Given the description of an element on the screen output the (x, y) to click on. 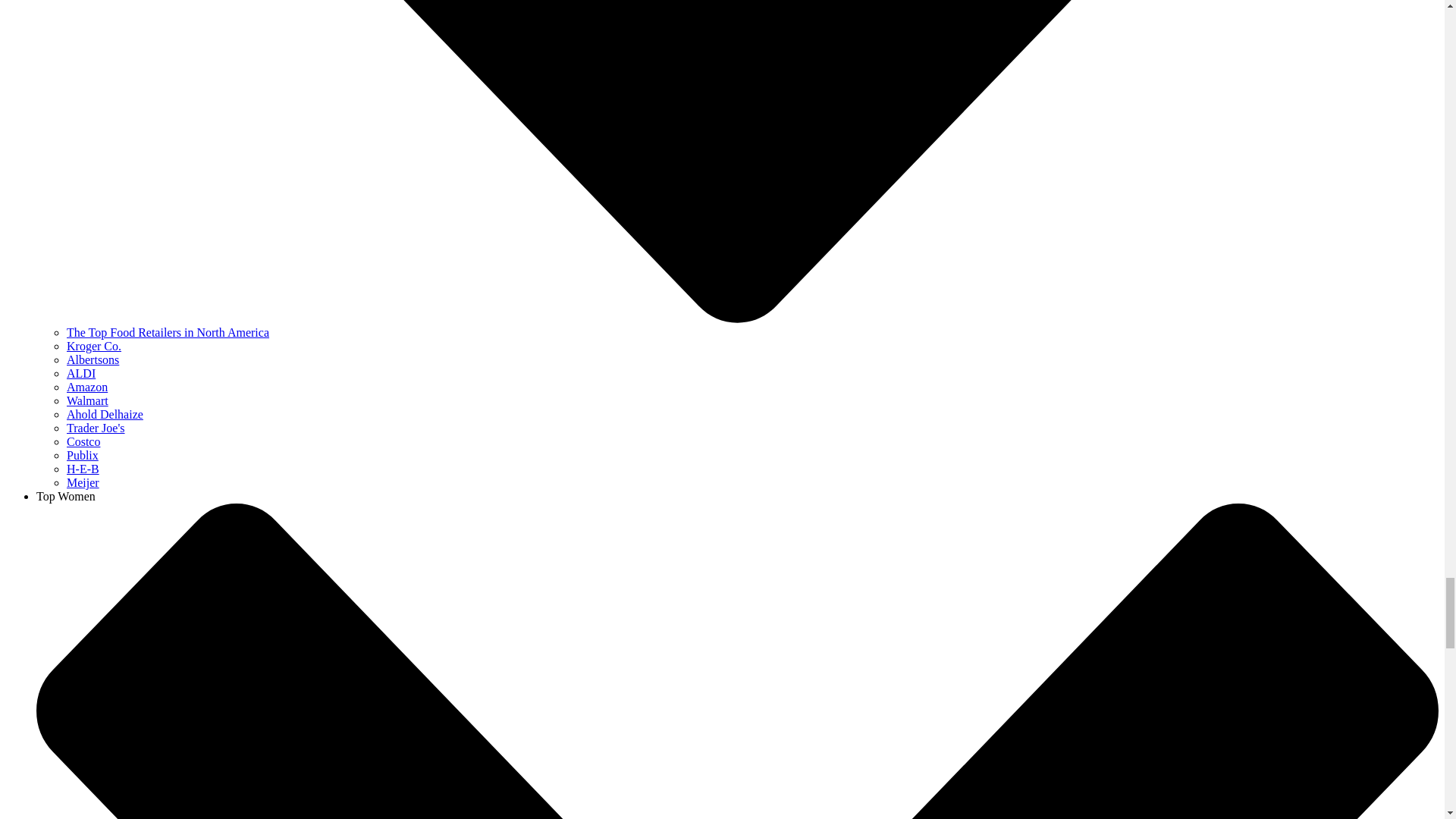
Albertsons (92, 359)
Kroger Co. (93, 345)
Trader Joe's (95, 427)
Costco (83, 440)
Top Women (66, 495)
Ahold Delhaize (104, 413)
Meijer (82, 481)
H-E-B (82, 468)
Walmart (86, 400)
The Top Food Retailers in North America (167, 332)
